Given the description of an element on the screen output the (x, y) to click on. 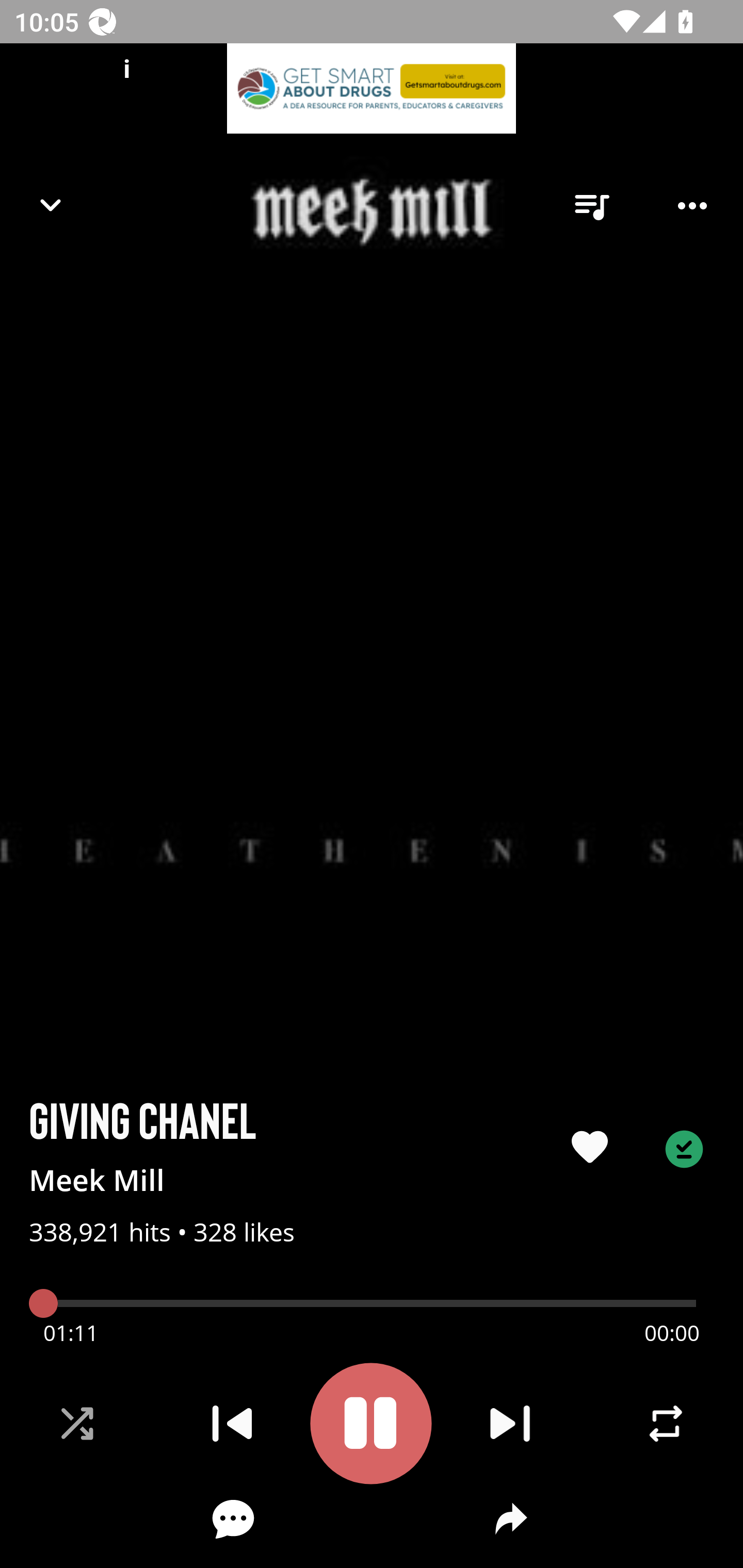
Navigate up (50, 205)
queue (590, 206)
Player options (692, 206)
